Given the description of an element on the screen output the (x, y) to click on. 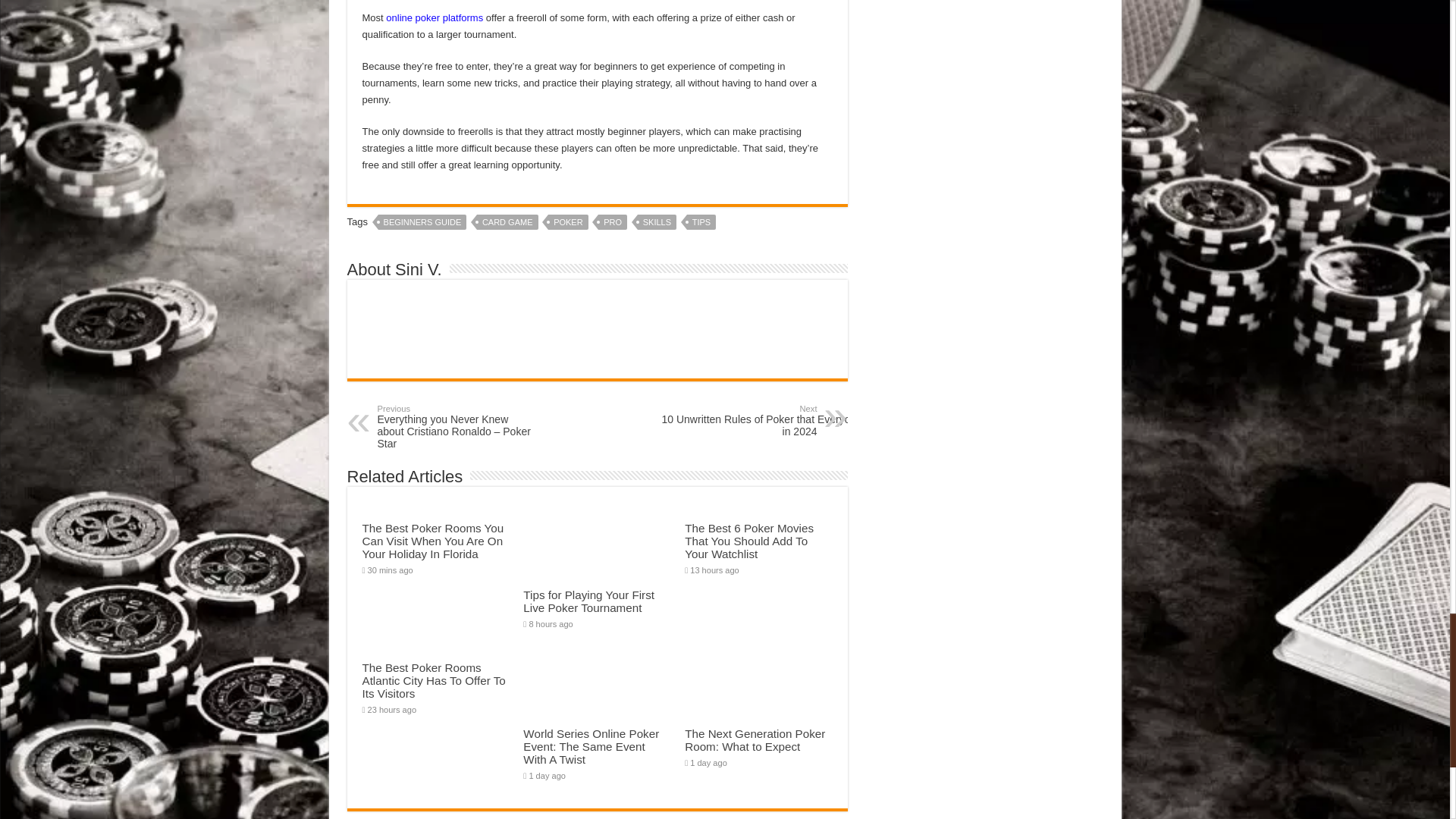
The Next Generation Poker Room: What to Expect (754, 739)
POKER (568, 222)
PRO (612, 222)
Tips for Playing Your First Live Poker Tournament (587, 601)
World Series Online Poker Event: The Same Event With A Twist (590, 746)
online poker platforms (434, 17)
SKILLS (657, 222)
TIPS (701, 222)
CARD GAME (507, 222)
BEGINNERS GUIDE (422, 222)
